Given the description of an element on the screen output the (x, y) to click on. 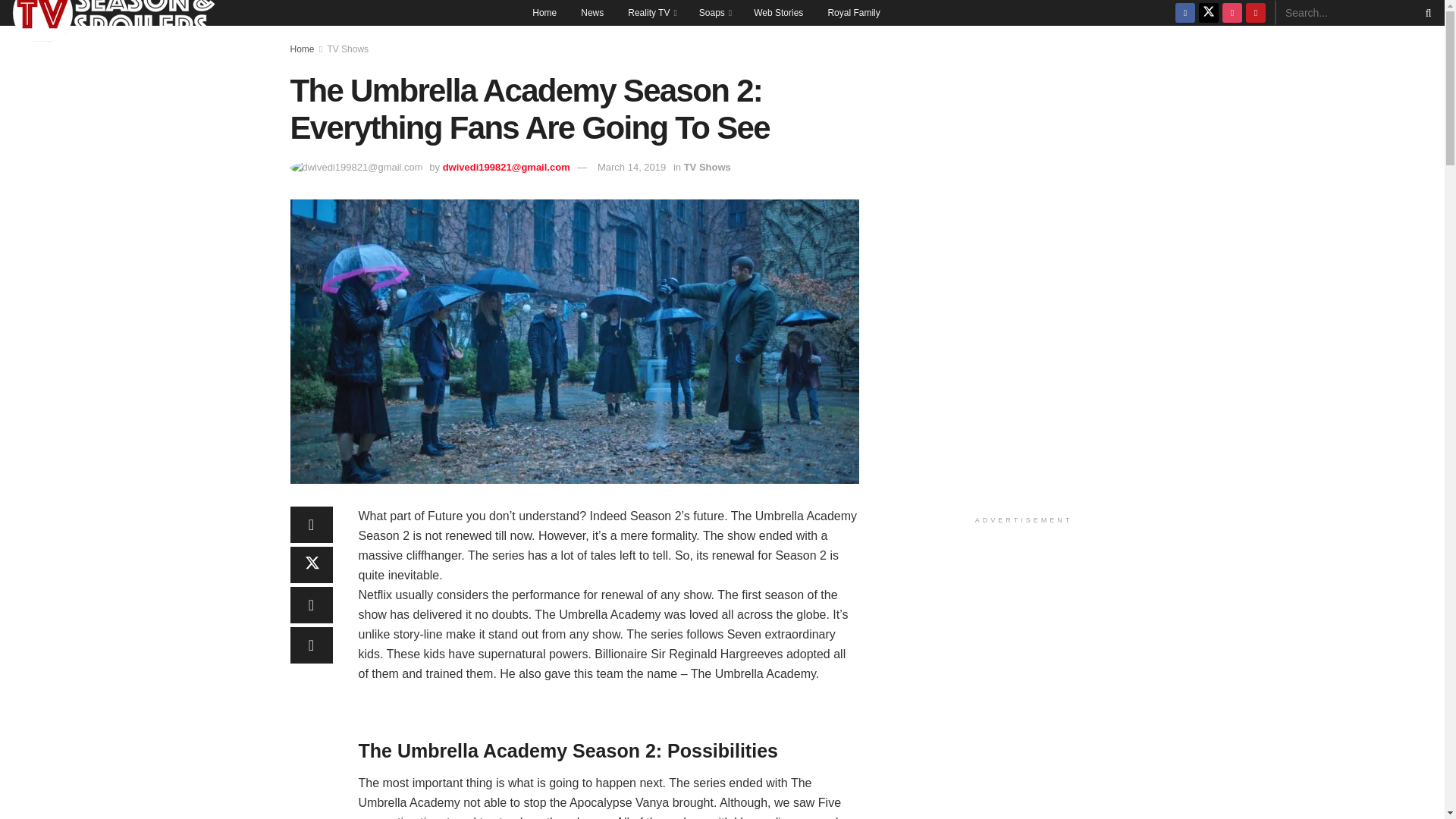
Royal Family (853, 12)
Home (301, 49)
Web Stories (778, 12)
Soaps (714, 12)
Home (544, 12)
TV Shows (347, 49)
Reality TV (651, 12)
News (592, 12)
